Given the description of an element on the screen output the (x, y) to click on. 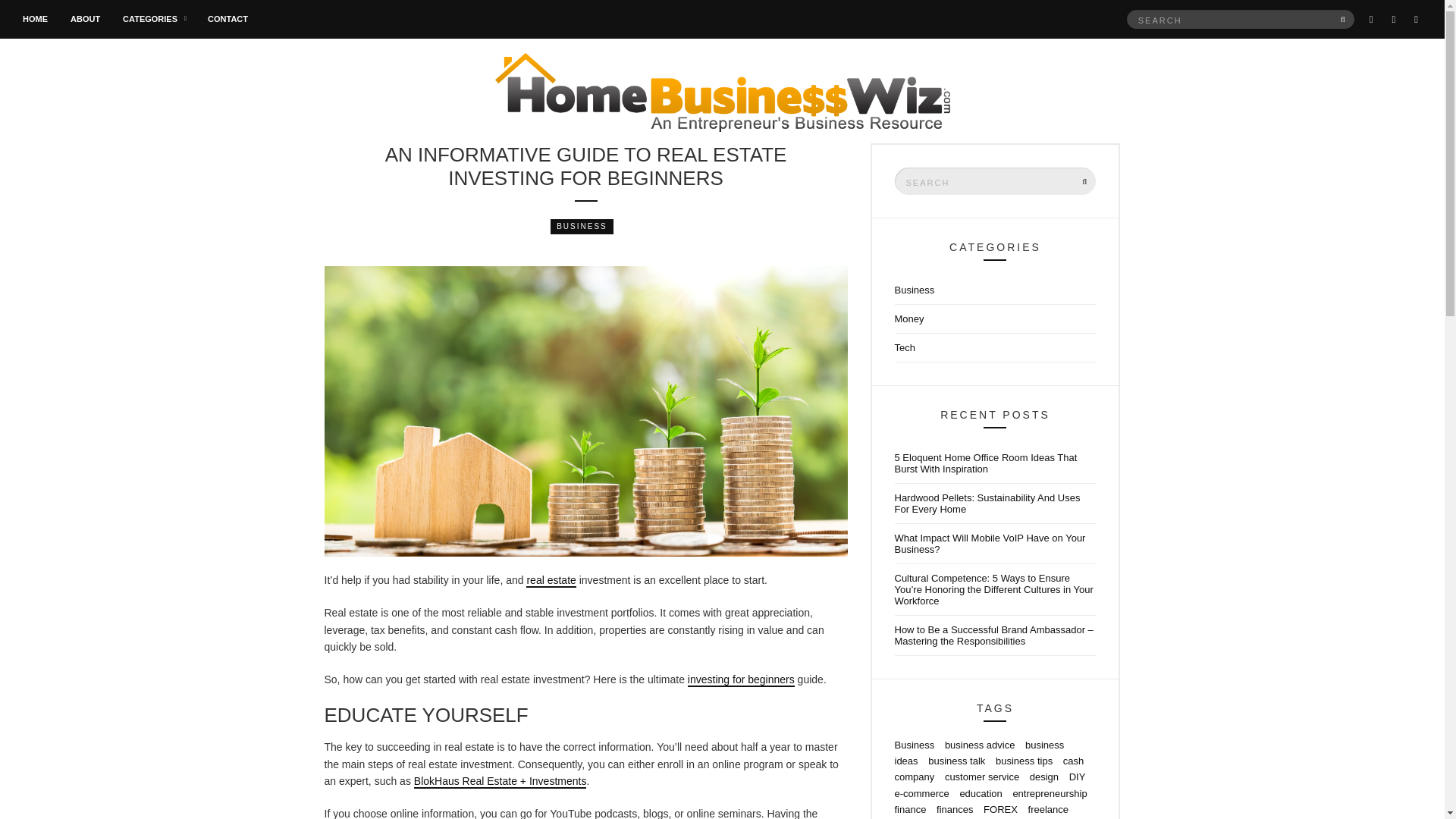
investing for beginners (740, 680)
Search (1343, 18)
HOME (35, 19)
BUSINESS (581, 226)
CONTACT (227, 19)
ABOUT (84, 19)
CATEGORIES (153, 19)
real estate (550, 581)
